Given the description of an element on the screen output the (x, y) to click on. 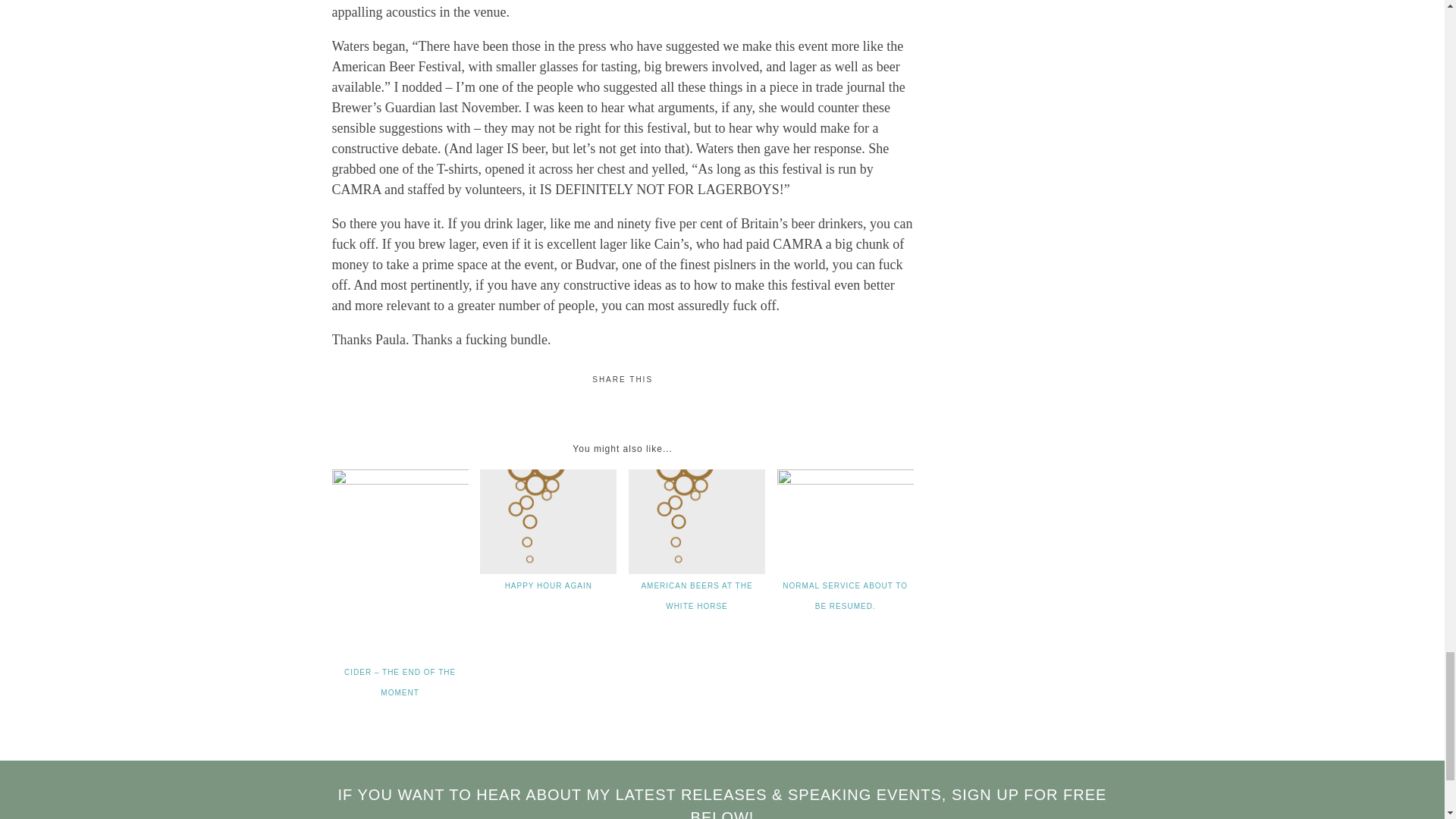
Normal service about to be resumed. (845, 595)
HAPPY HOUR AGAIN (548, 585)
Happy Hour Again (548, 585)
AMERICAN BEERS AT THE WHITE HORSE (696, 595)
NORMAL SERVICE ABOUT TO BE RESUMED. (845, 595)
American Beers at the White Horse (696, 595)
